Given the description of an element on the screen output the (x, y) to click on. 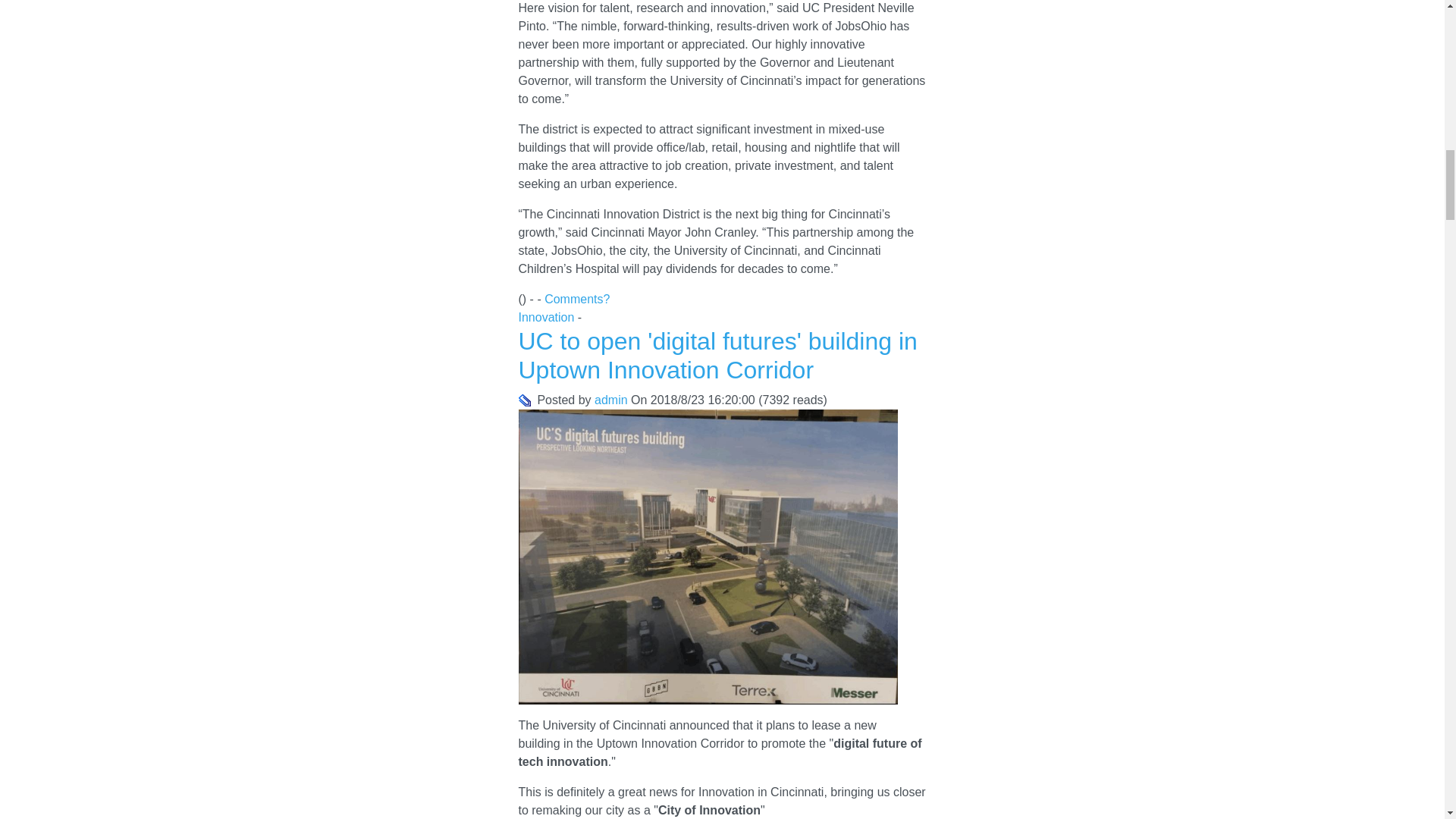
admin (610, 399)
UC Digital Futures Building (708, 556)
Comments? (577, 298)
Innovation (546, 317)
This article have some attached files (524, 399)
Innovation (546, 317)
This (524, 399)
